Given the description of an element on the screen output the (x, y) to click on. 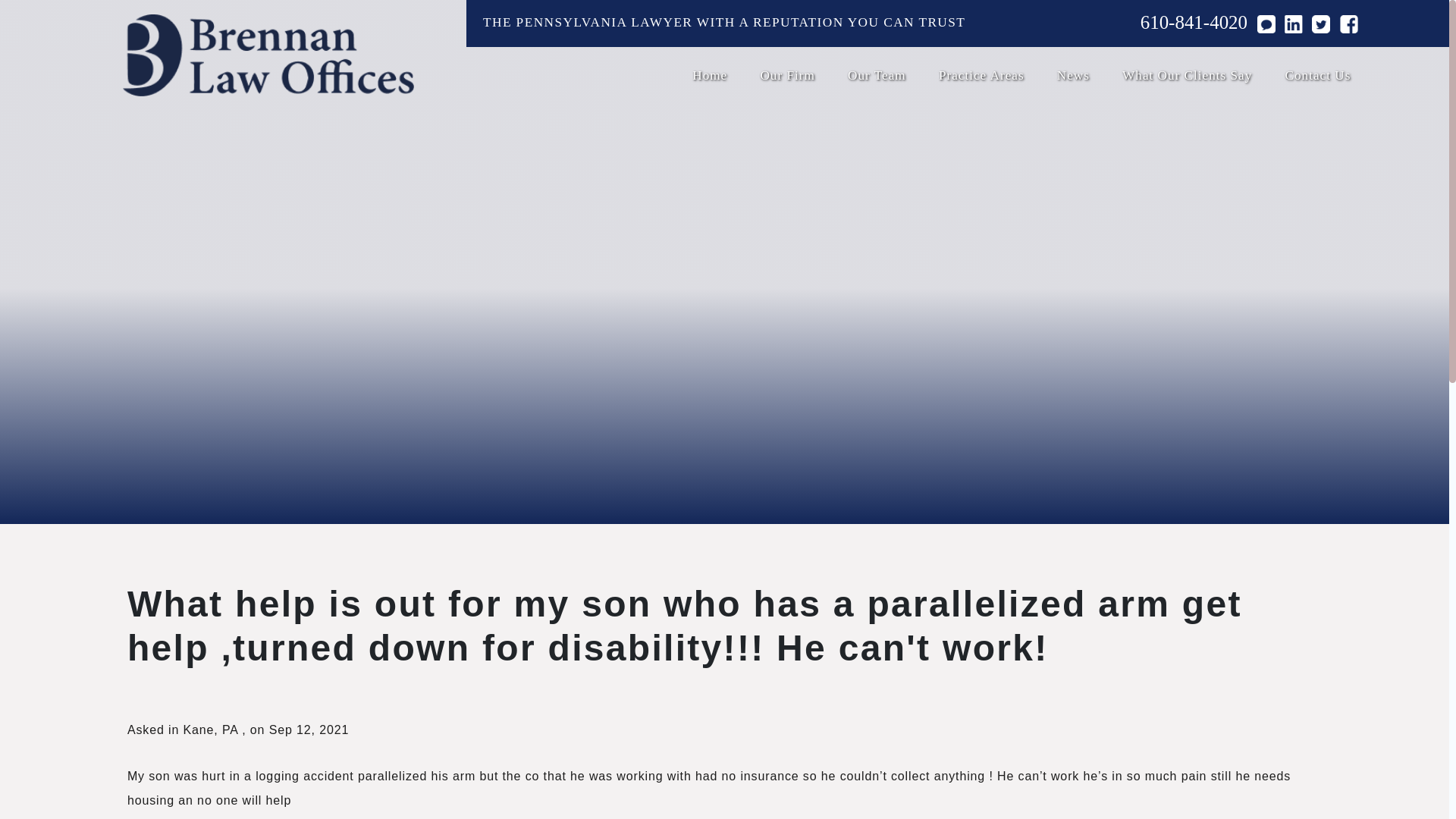
Our Firm (786, 75)
Our Team (876, 75)
What Our Clients Say (1187, 75)
Home (709, 75)
Contact Us (1318, 75)
Practice Areas (982, 75)
News (1073, 75)
